Given the description of an element on the screen output the (x, y) to click on. 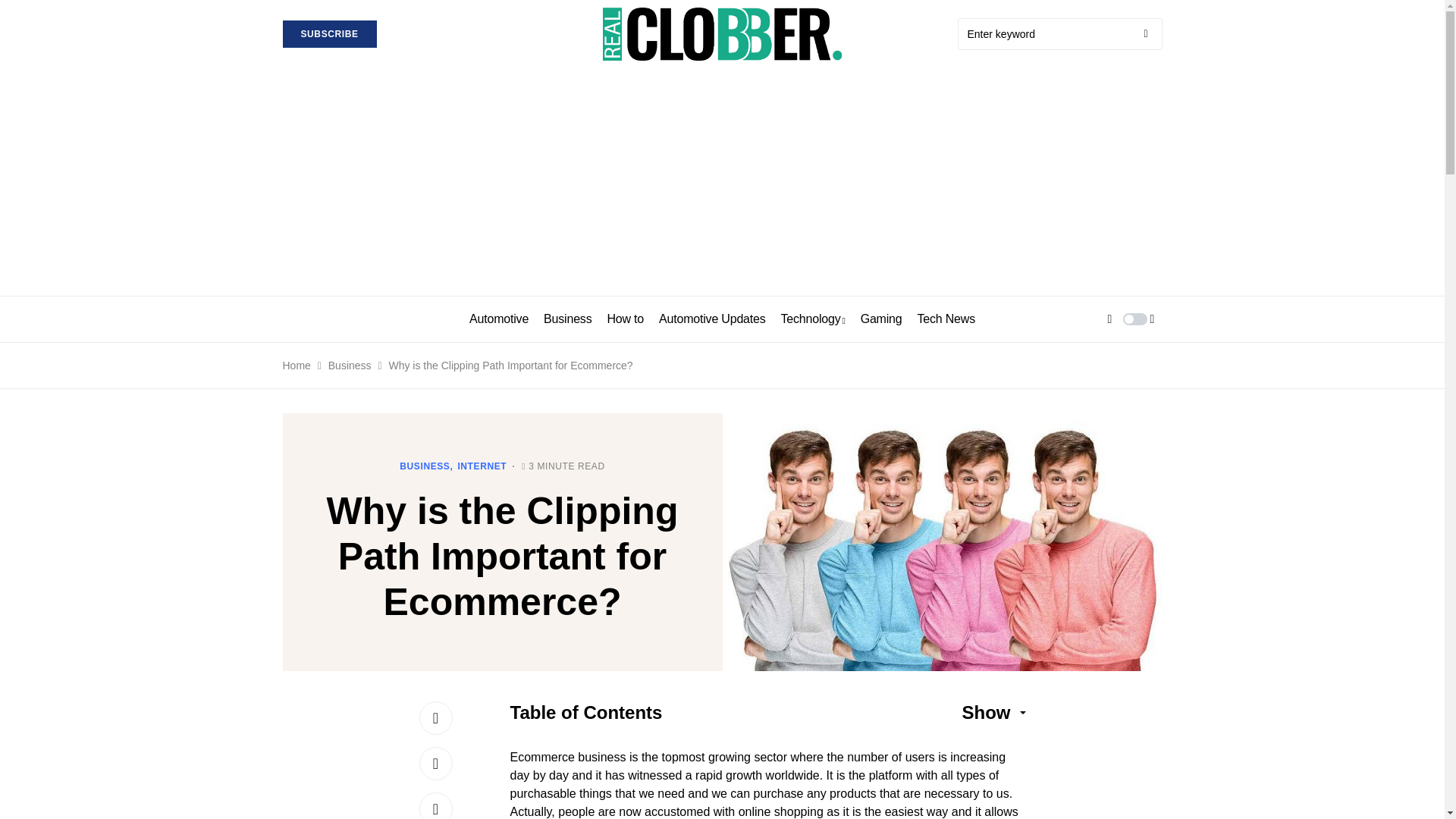
Automotive Updates (712, 319)
Business (567, 319)
Tech News (946, 319)
Technology (812, 319)
SUBSCRIBE (328, 33)
Automotive (498, 319)
Gaming (881, 319)
